Given the description of an element on the screen output the (x, y) to click on. 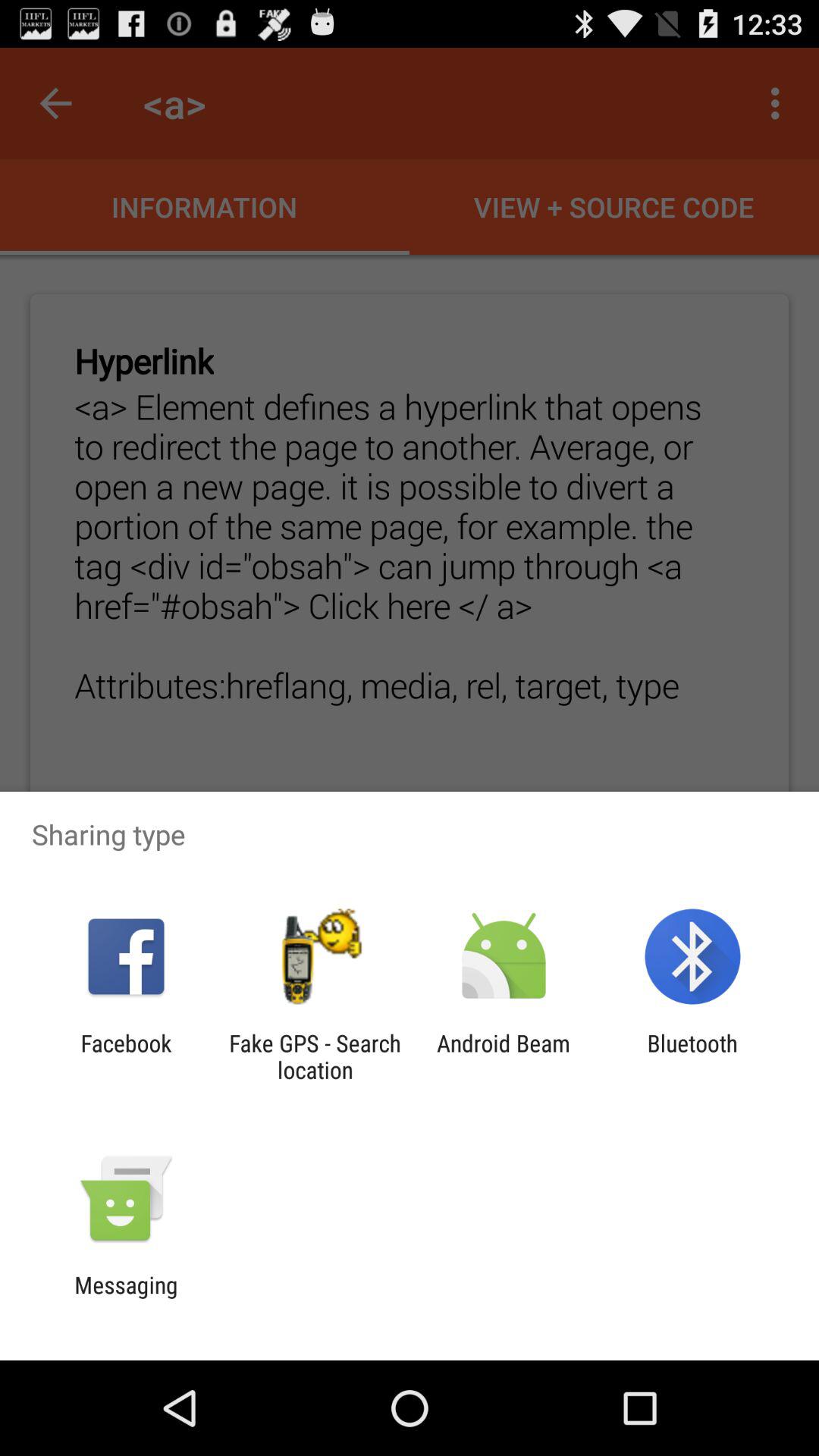
turn on icon to the left of the bluetooth (503, 1056)
